Given the description of an element on the screen output the (x, y) to click on. 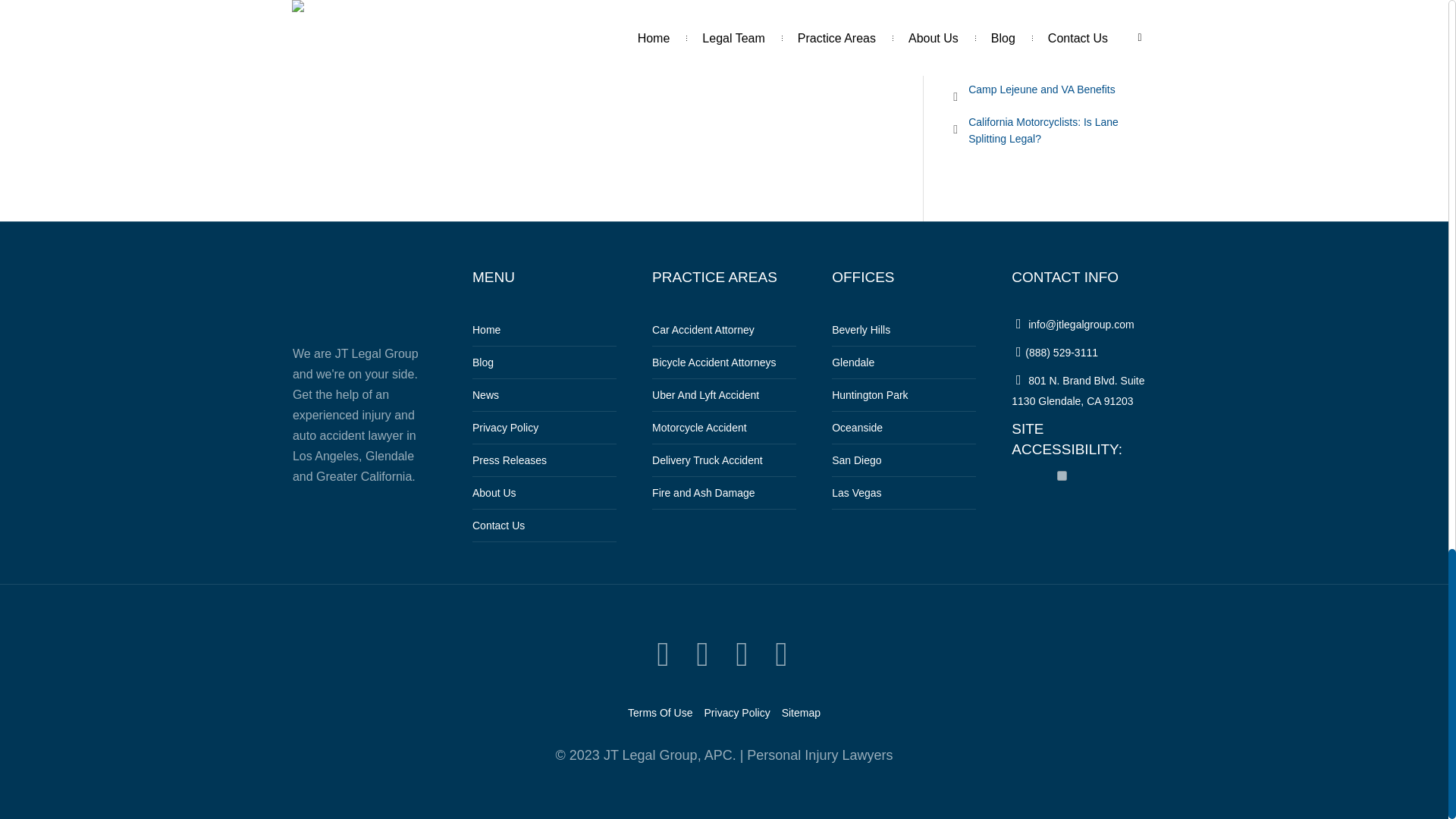
on (1062, 475)
linkedin (741, 654)
Twitter (662, 654)
Skype (780, 654)
Facebook (702, 654)
